Given the description of an element on the screen output the (x, y) to click on. 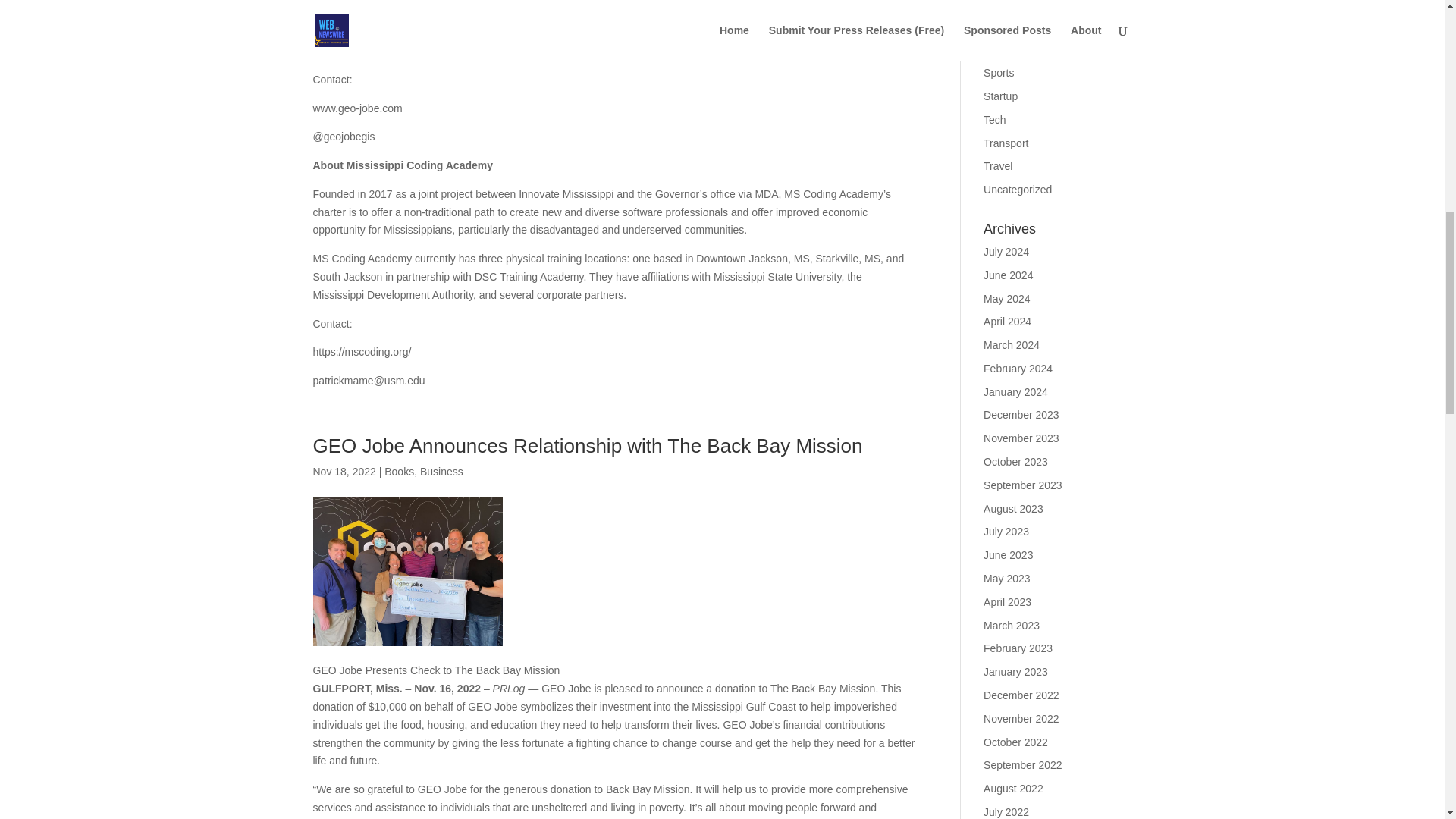
Regional (1004, 49)
GEO Jobe Presents Check to The Back Bay Mission (407, 571)
Business (441, 471)
Books (398, 471)
Real Estate (1011, 26)
GEO Jobe Announces Relationship with The Back Bay Mission (587, 445)
Politics (1000, 4)
